Given the description of an element on the screen output the (x, y) to click on. 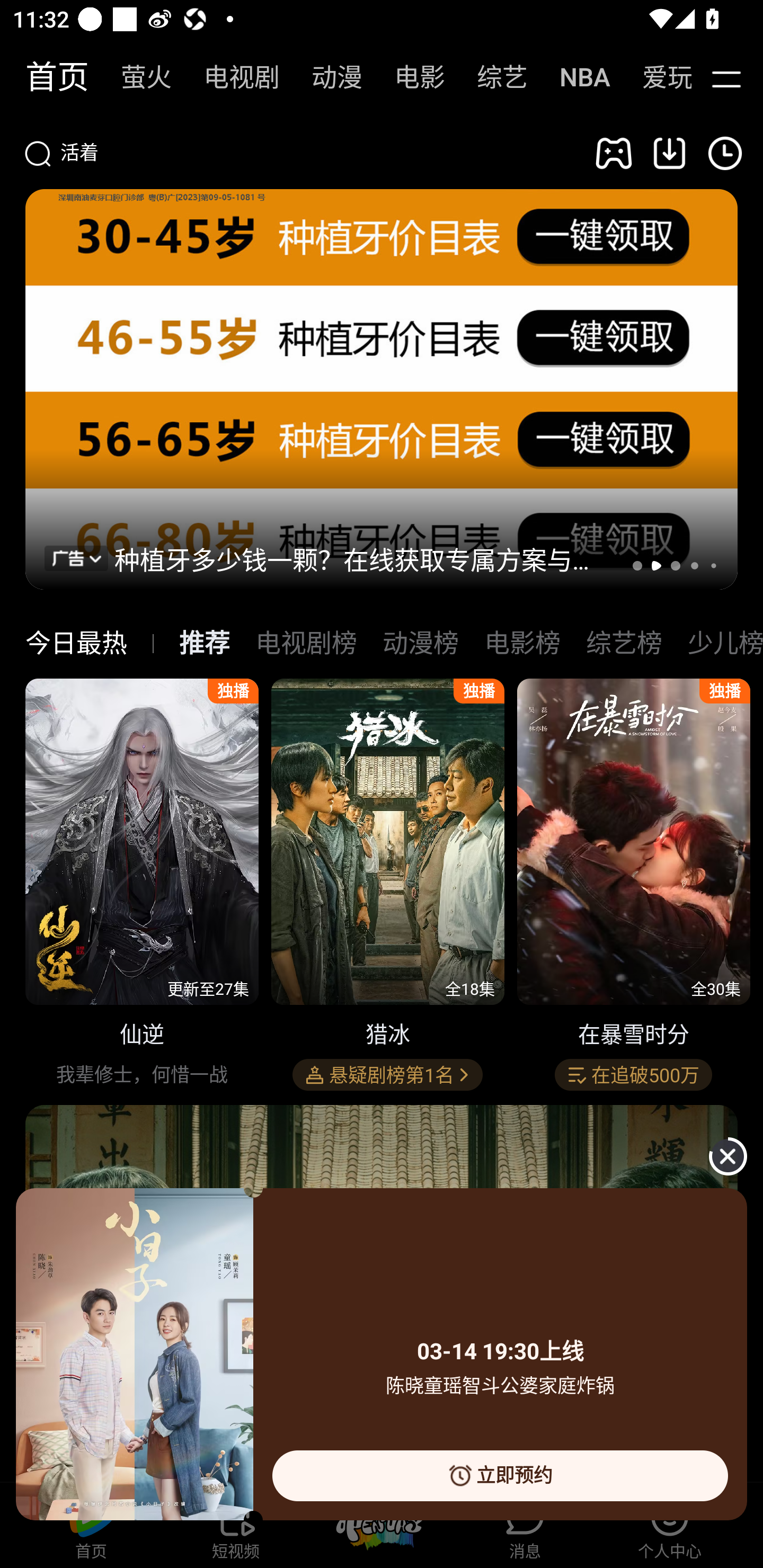
首页 (47, 77)
萤火 (136, 77)
电视剧 (231, 77)
动漫 (327, 77)
电影 (409, 77)
综艺 (492, 77)
NBA (575, 77)
爱玩 (653, 77)
活着 (297, 152)
种植牙多少钱一颗？在线获取专属方案与报价，少走冤枉路 (362, 558)
推荐 (204, 643)
电视剧榜 (306, 643)
动漫榜 (420, 643)
电影榜 (522, 643)
综艺榜 (623, 643)
少儿榜 (725, 643)
仙逆 我辈修士，何惜一战 (141, 887)
猎冰 悬疑剧榜第1名 (387, 887)
在暴雪时分 在追破500万 (633, 887)
悬疑剧榜第1名 (387, 1074)
在追破500万 (632, 1074)
03-14 19:30上线 陈晓童瑶智斗公婆家庭炸锅 立即预约 (381, 1354)
立即预约 (499, 1475)
